Given the description of an element on the screen output the (x, y) to click on. 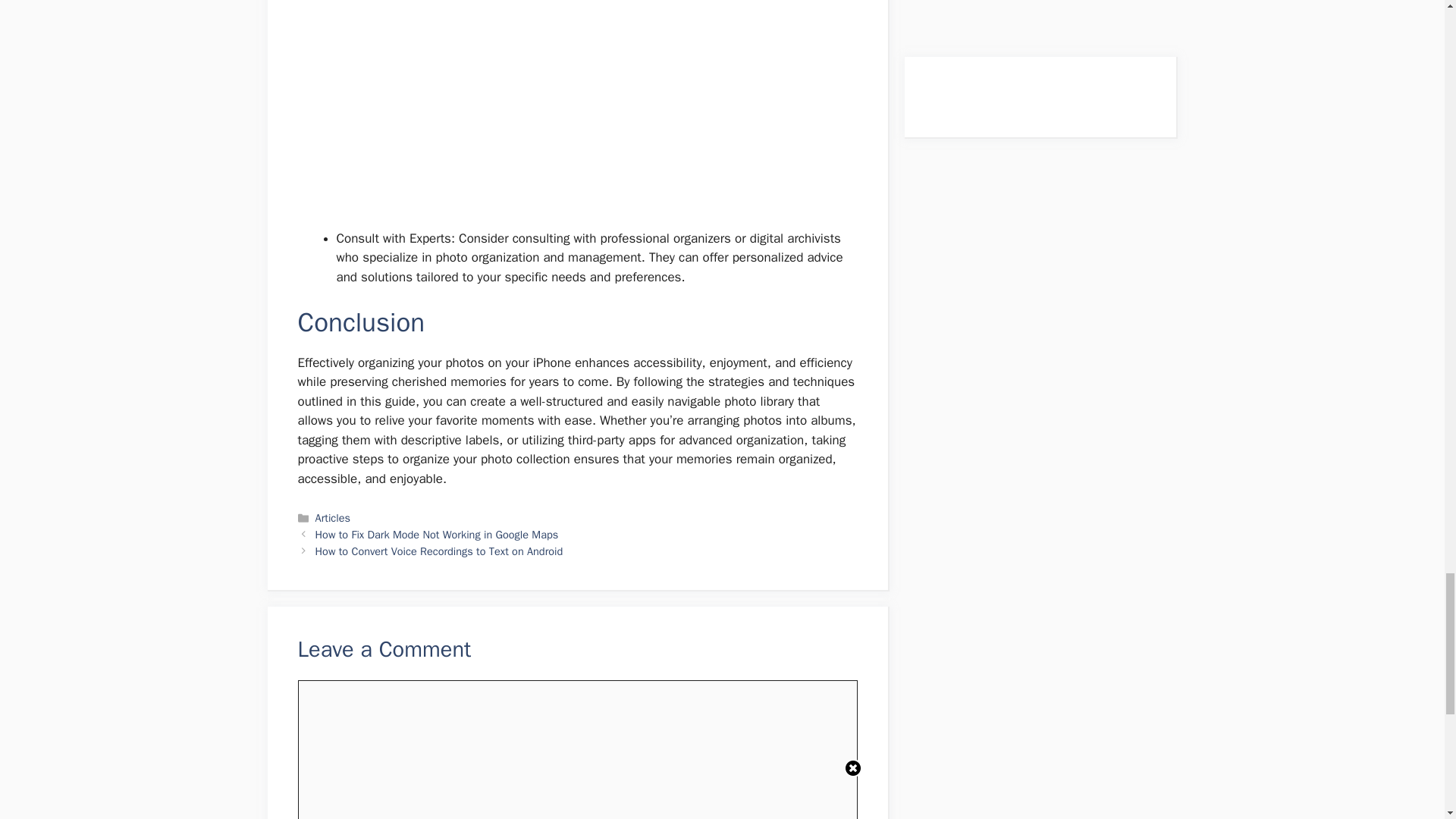
Articles (332, 517)
How to Fix Dark Mode Not Working in Google Maps (437, 534)
How to Convert Voice Recordings to Text on Android (439, 550)
